Given the description of an element on the screen output the (x, y) to click on. 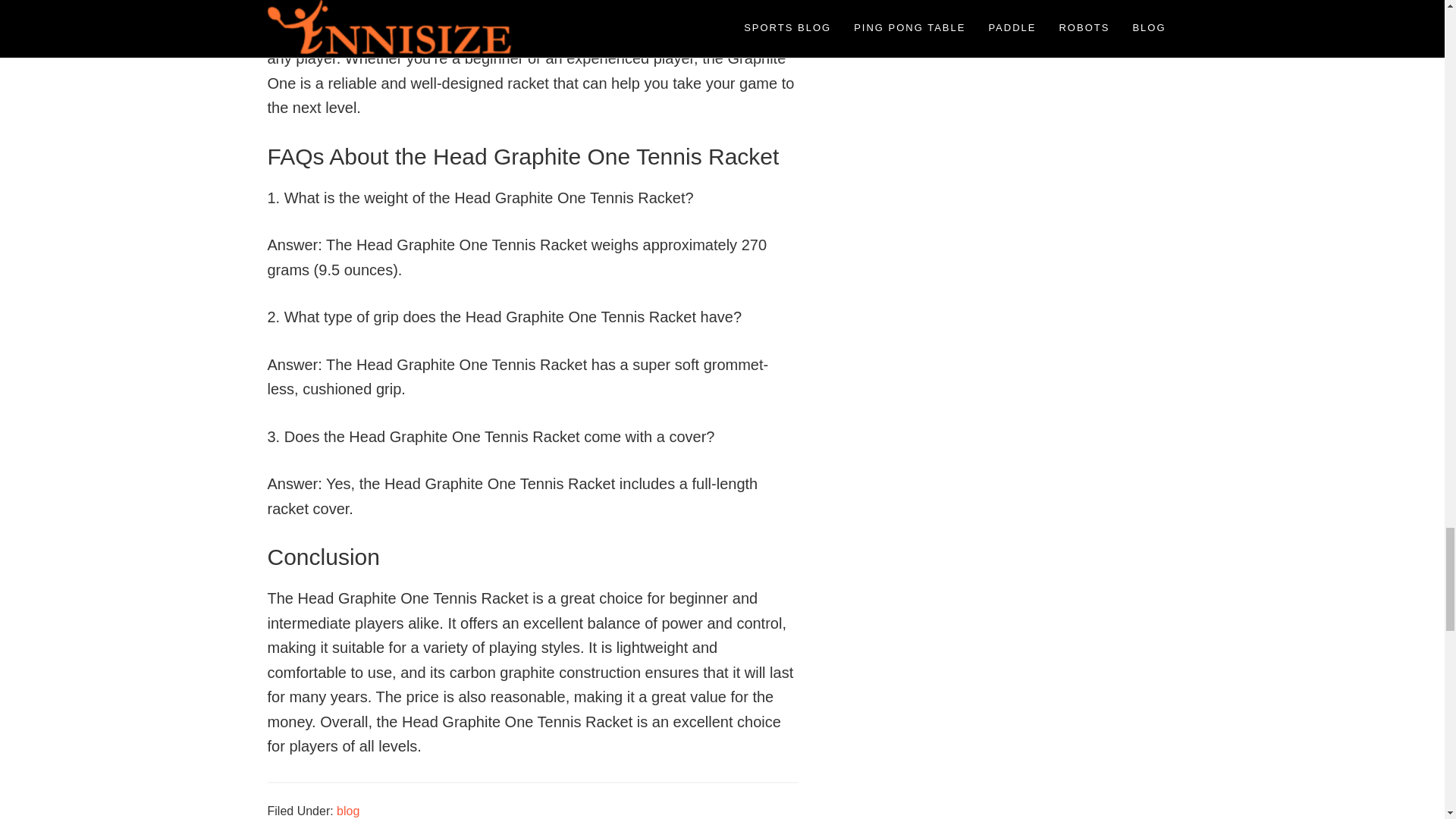
blog (347, 810)
